Given the description of an element on the screen output the (x, y) to click on. 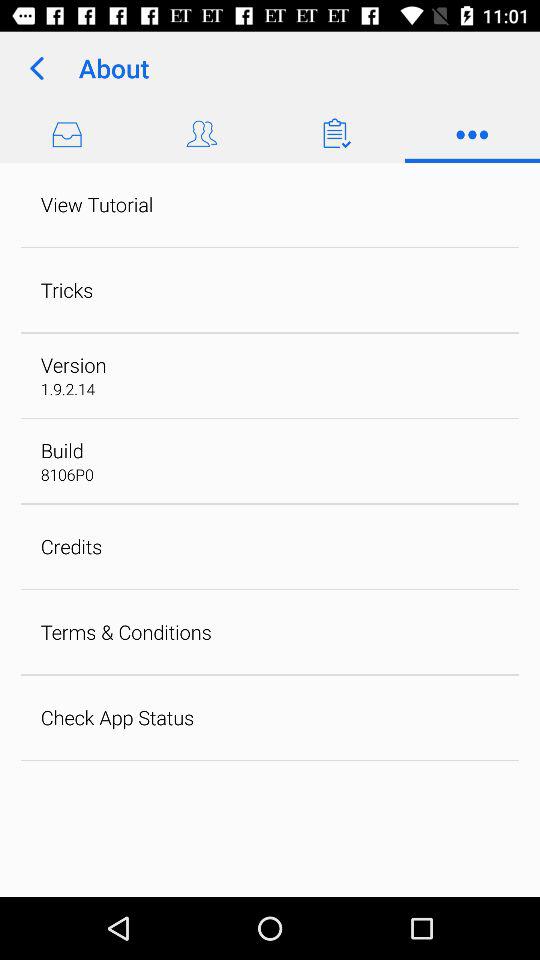
launch the app below the 1 9 2 app (61, 450)
